Given the description of an element on the screen output the (x, y) to click on. 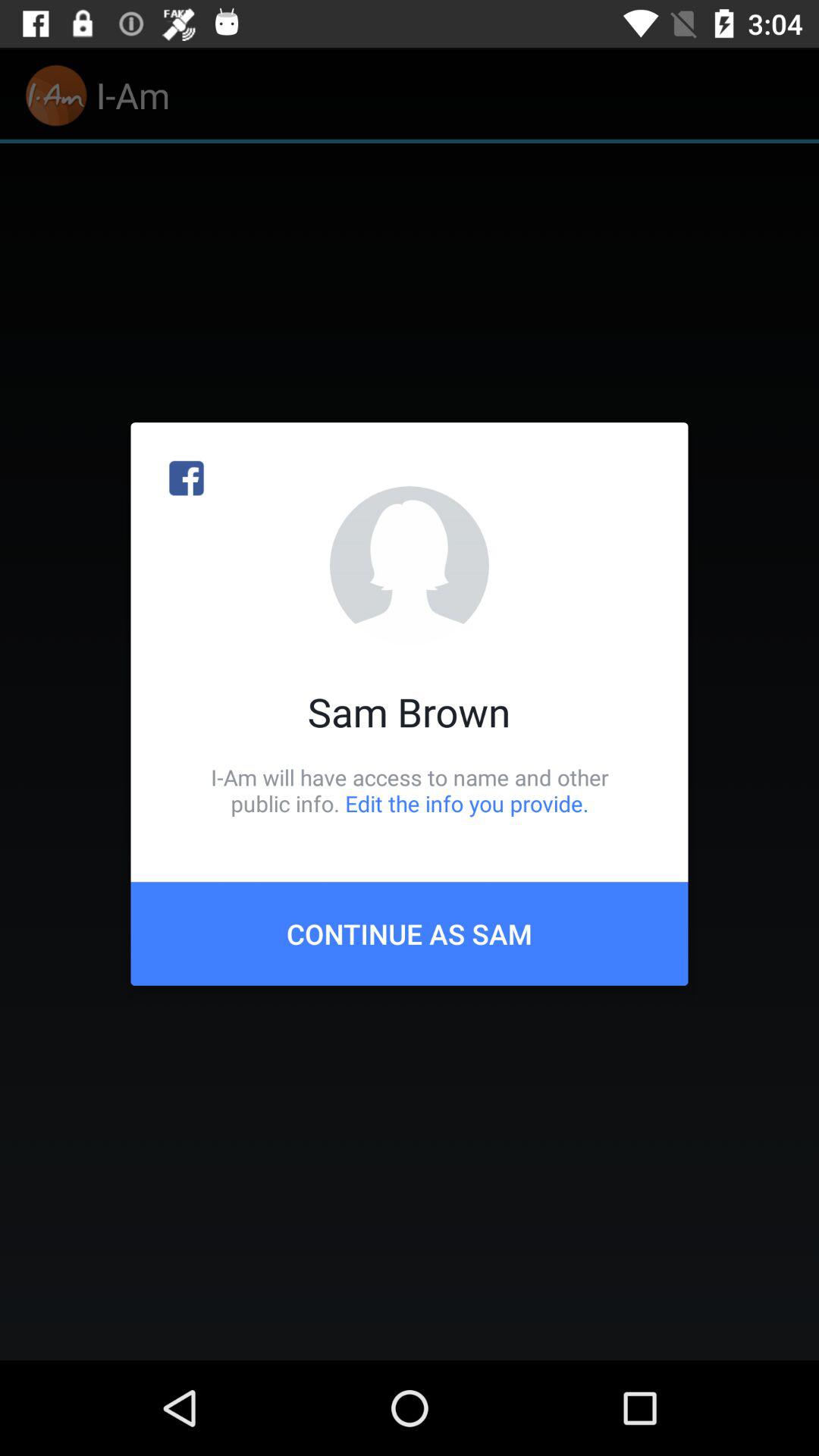
turn on the icon below sam brown icon (409, 790)
